Given the description of an element on the screen output the (x, y) to click on. 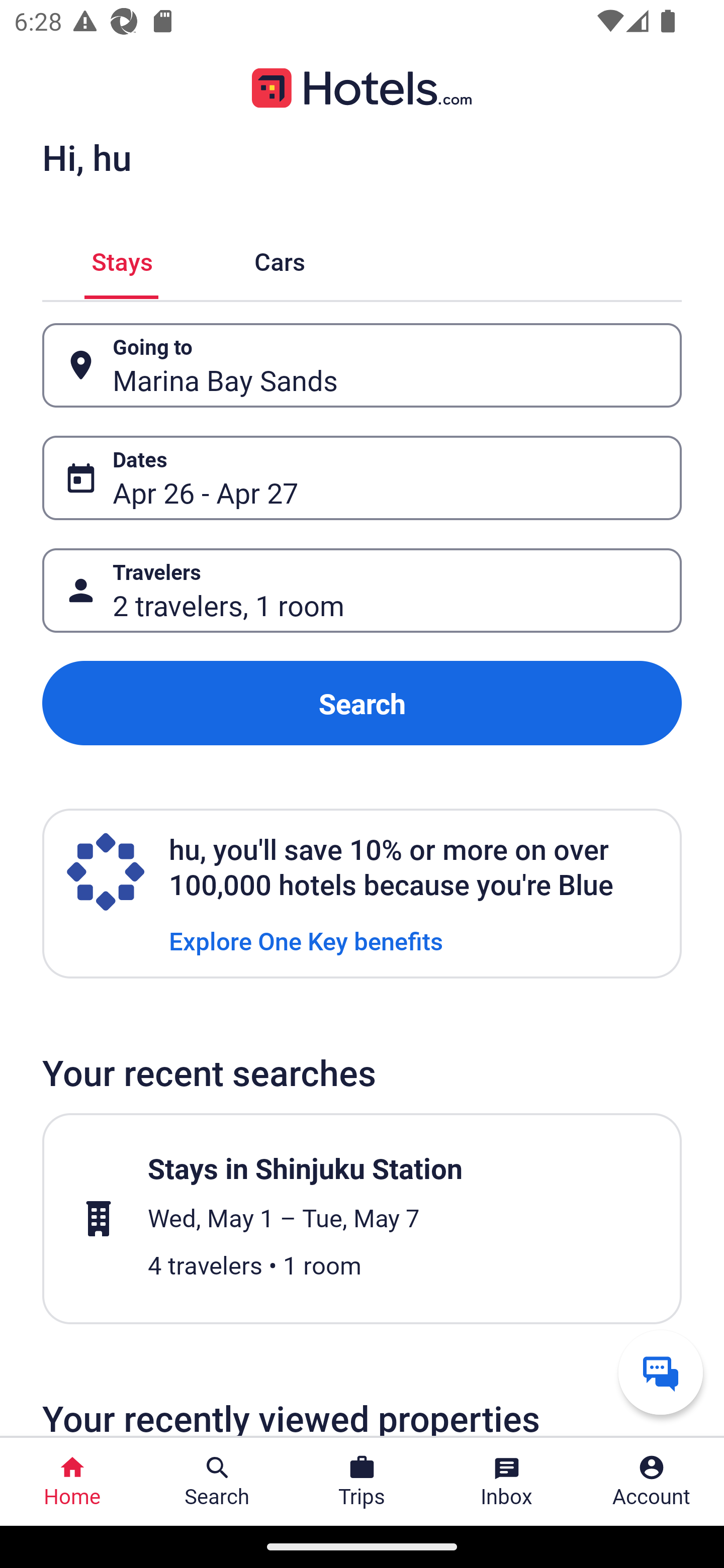
Hi, hu (86, 156)
Cars (279, 259)
Going to Button Marina Bay Sands (361, 365)
Dates Button Apr 26 - Apr 27 (361, 477)
Travelers Button 2 travelers, 1 room (361, 590)
Search (361, 702)
Get help from a virtual agent (660, 1371)
Search Search Button (216, 1481)
Trips Trips Button (361, 1481)
Inbox Inbox Button (506, 1481)
Account Profile. Button (651, 1481)
